Given the description of an element on the screen output the (x, y) to click on. 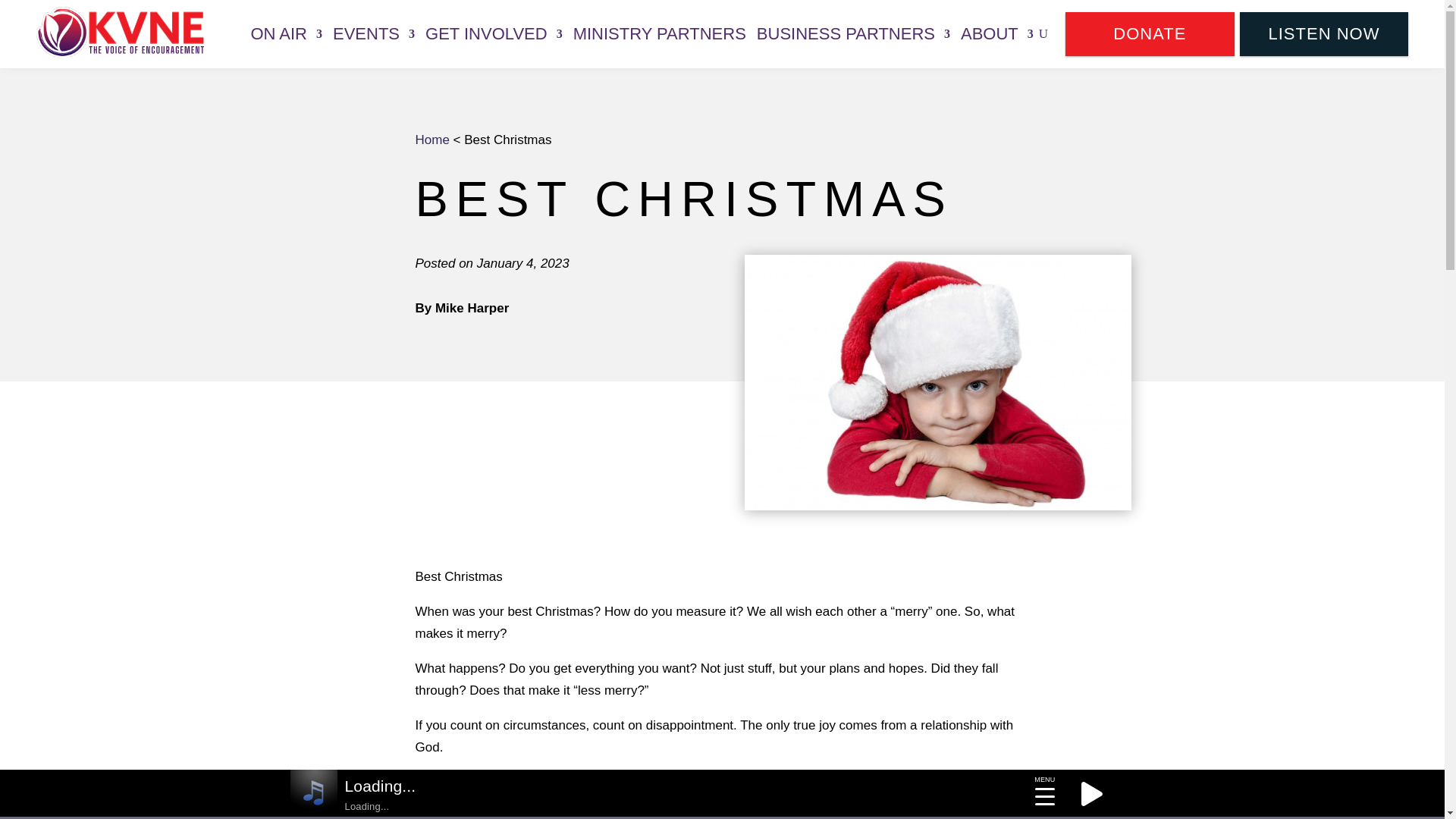
ABOUT (996, 33)
GET INVOLVED (493, 33)
ON AIR (285, 33)
BUSINESS PARTNERS (853, 33)
MINISTRY PARTNERS (659, 33)
EVENTS (373, 33)
